Given the description of an element on the screen output the (x, y) to click on. 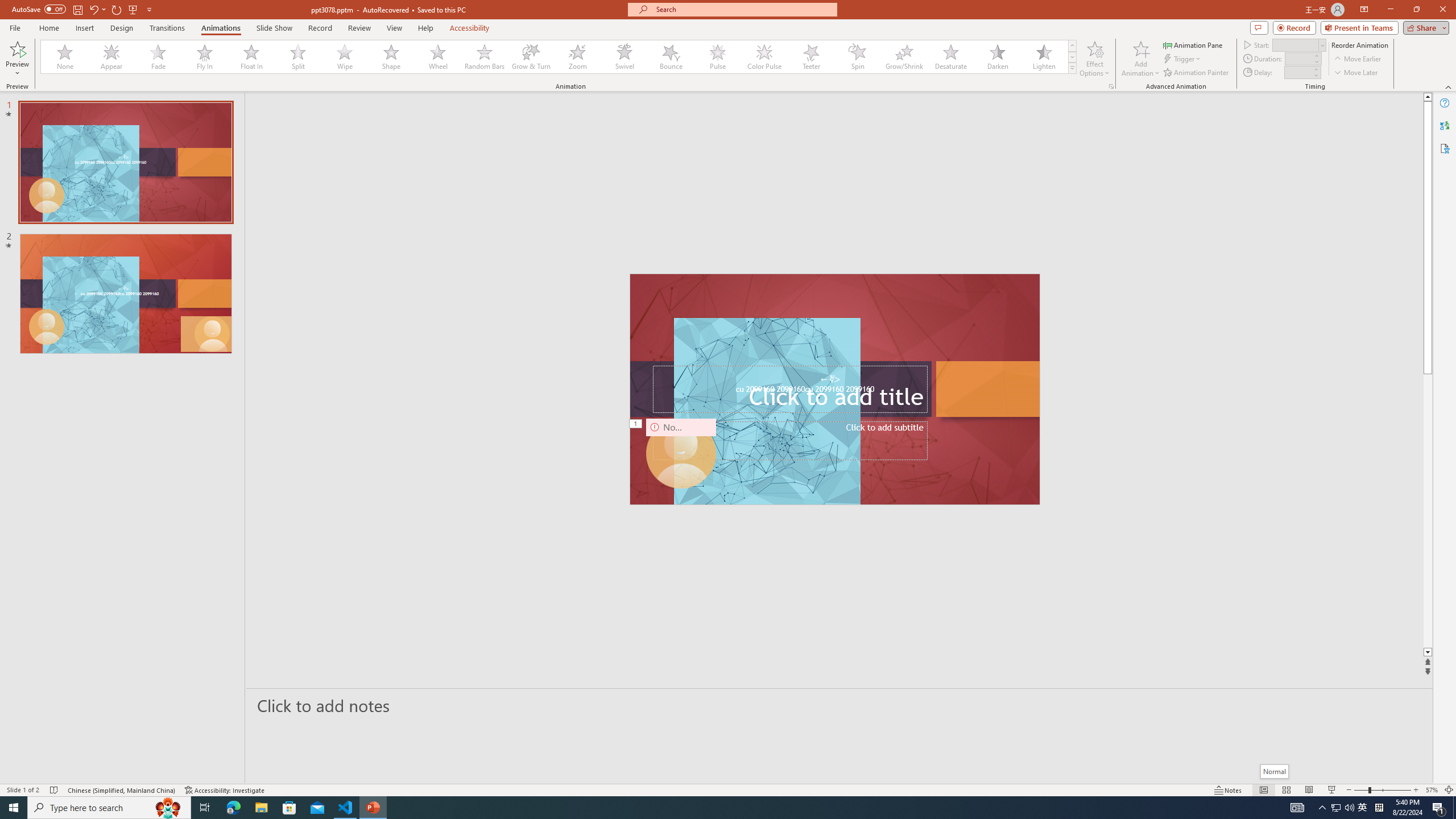
TextBox 7 (830, 379)
None (65, 56)
TextBox 61 (833, 390)
Animation Styles (1071, 67)
Desaturate (950, 56)
